Given the description of an element on the screen output the (x, y) to click on. 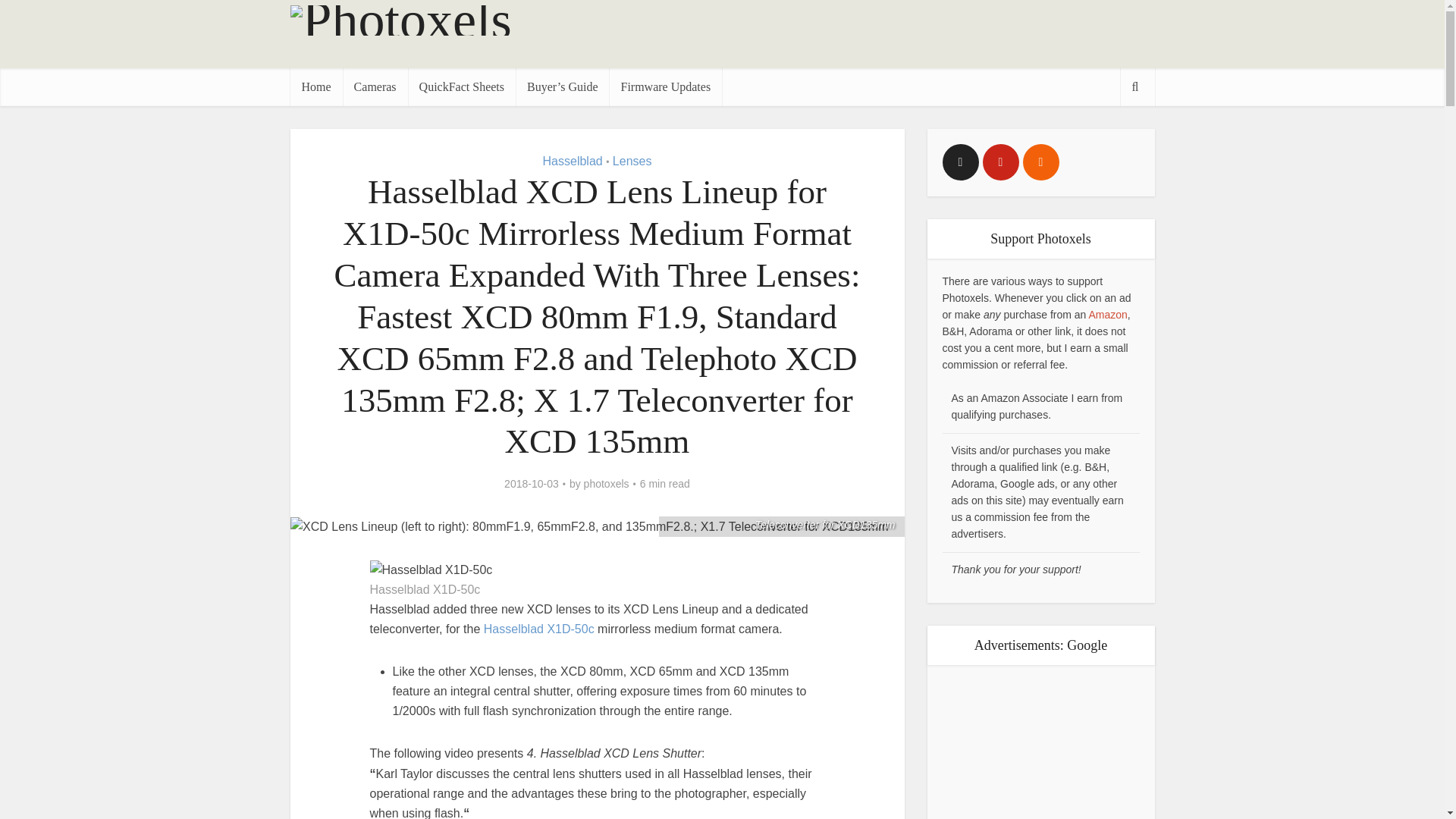
Hasselblad X1D-50c (538, 628)
photoxels (605, 483)
Cameras (374, 86)
Firmware Updates (665, 86)
Lenses (632, 160)
Home (315, 86)
Hasselblad (572, 160)
QuickFact Sheets (461, 86)
